Given the description of an element on the screen output the (x, y) to click on. 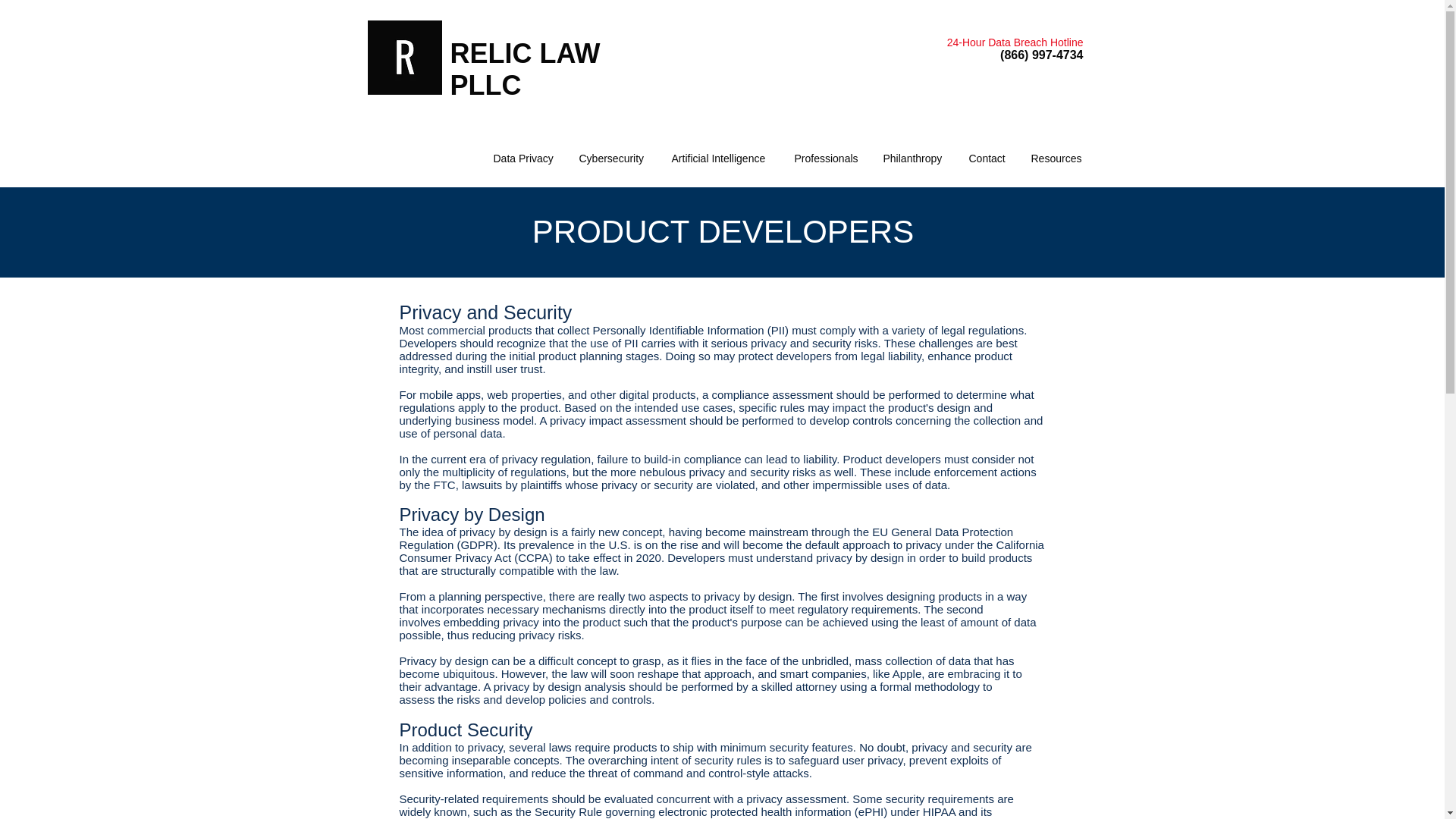
Contact (987, 158)
RELIC LAW PLLC (524, 68)
Philanthropy (915, 158)
Data Privacy (524, 158)
Professionals (826, 158)
Cybersecurity (613, 158)
Artificial Intelligence (721, 158)
